Given the description of an element on the screen output the (x, y) to click on. 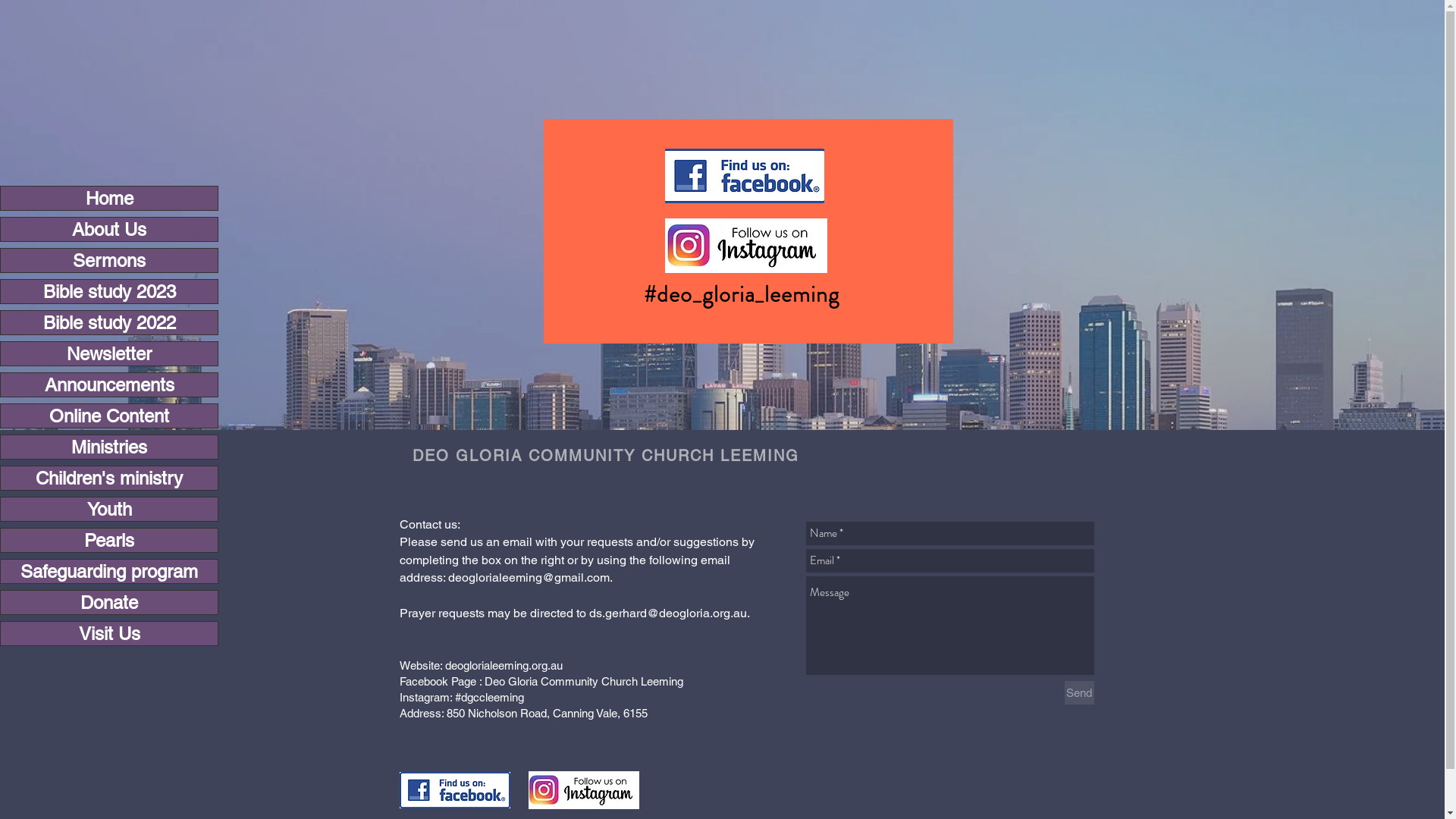
Home Element type: text (108, 198)
Announcements Element type: text (108, 384)
Youth Element type: text (108, 508)
ds.gerhard@deogloria.org.au Element type: text (667, 612)
Newsletter Element type: text (108, 352)
Bible study 2022 Element type: text (108, 322)
Safeguarding program Element type: text (108, 571)
About Us Element type: text (108, 228)
deoglorialeeming@gmail.com Element type: text (527, 577)
Online Content Element type: text (108, 414)
Bible study 2023 Element type: text (108, 290)
Send Element type: text (1079, 692)
Ministries Element type: text (108, 446)
Sermons Element type: text (108, 260)
Visit Us Element type: text (108, 633)
Donate Element type: text (108, 601)
Pearls Element type: text (108, 539)
Children's ministry Element type: text (108, 477)
